Given the description of an element on the screen output the (x, y) to click on. 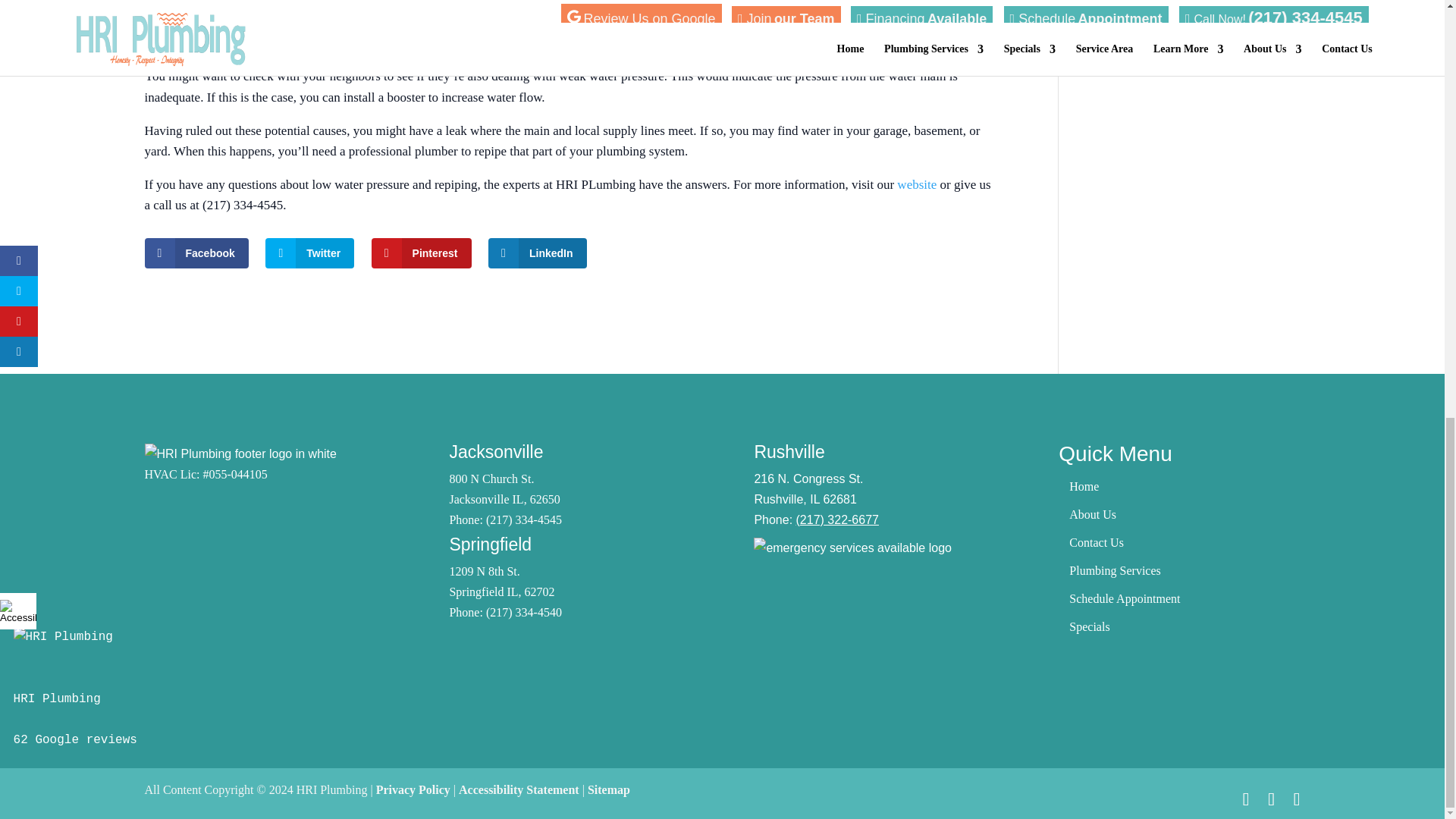
website (916, 184)
Twitter (308, 253)
Pinterest (421, 253)
LinkedIn (536, 253)
Facebook (195, 253)
